Given the description of an element on the screen output the (x, y) to click on. 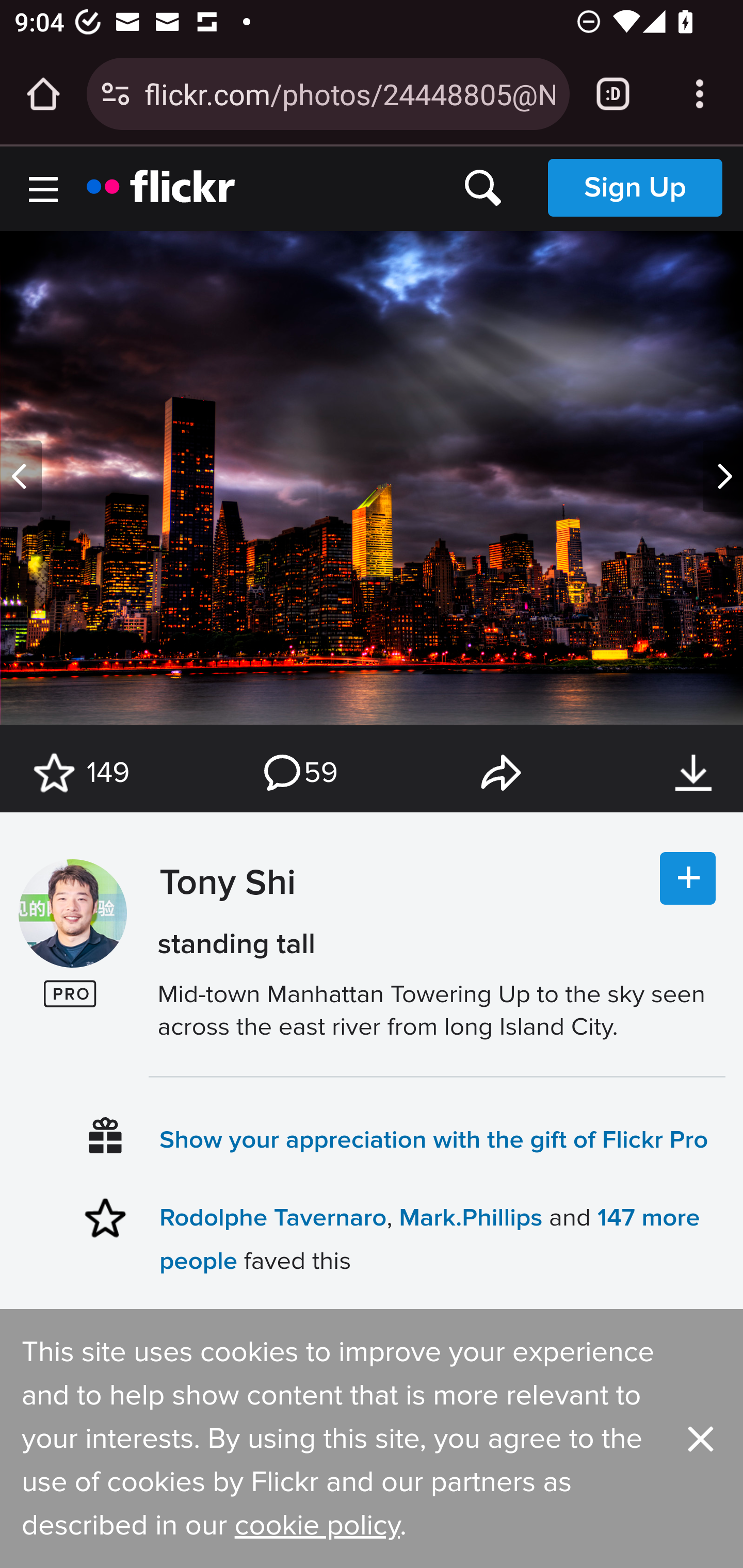
Open the home page (43, 93)
Connection is secure (115, 93)
Switch or close tabs (612, 93)
Customize and control Google Chrome (699, 93)
flickr.com/photos/24448805@N07/2909441524 (349, 92)
Sign Up Sign Up Sign Up (634, 187)
59 (299, 772)
Download this photo (692, 772)
Follow (687, 878)
tonyshi (72, 914)
Show your appreciation with the gift of Flickr Pro (434, 1138)
147 more people (429, 1238)
